Given the description of an element on the screen output the (x, y) to click on. 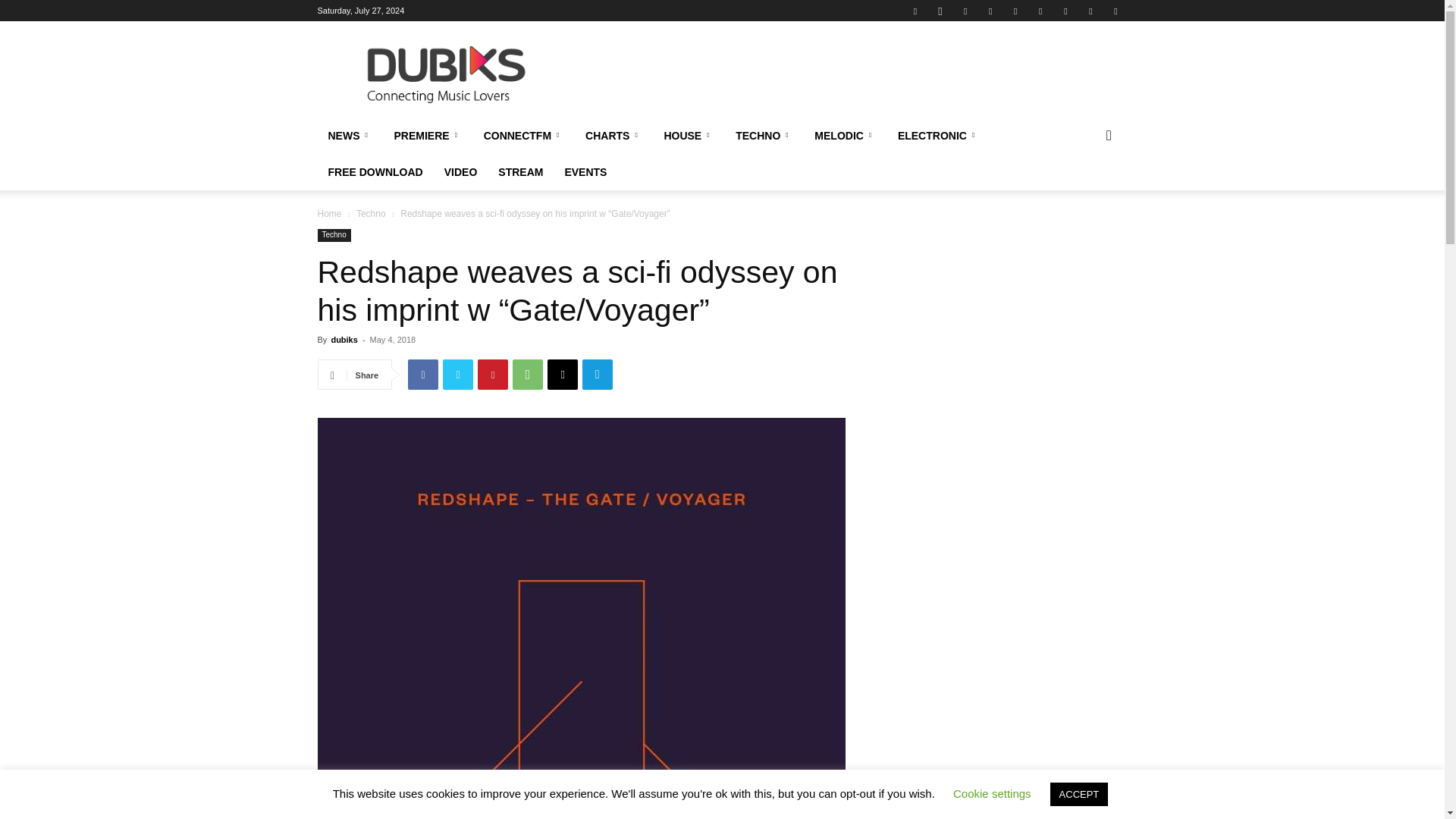
Facebook (915, 10)
Instagram (940, 10)
Mail (964, 10)
Paypal (989, 10)
